Given the description of an element on the screen output the (x, y) to click on. 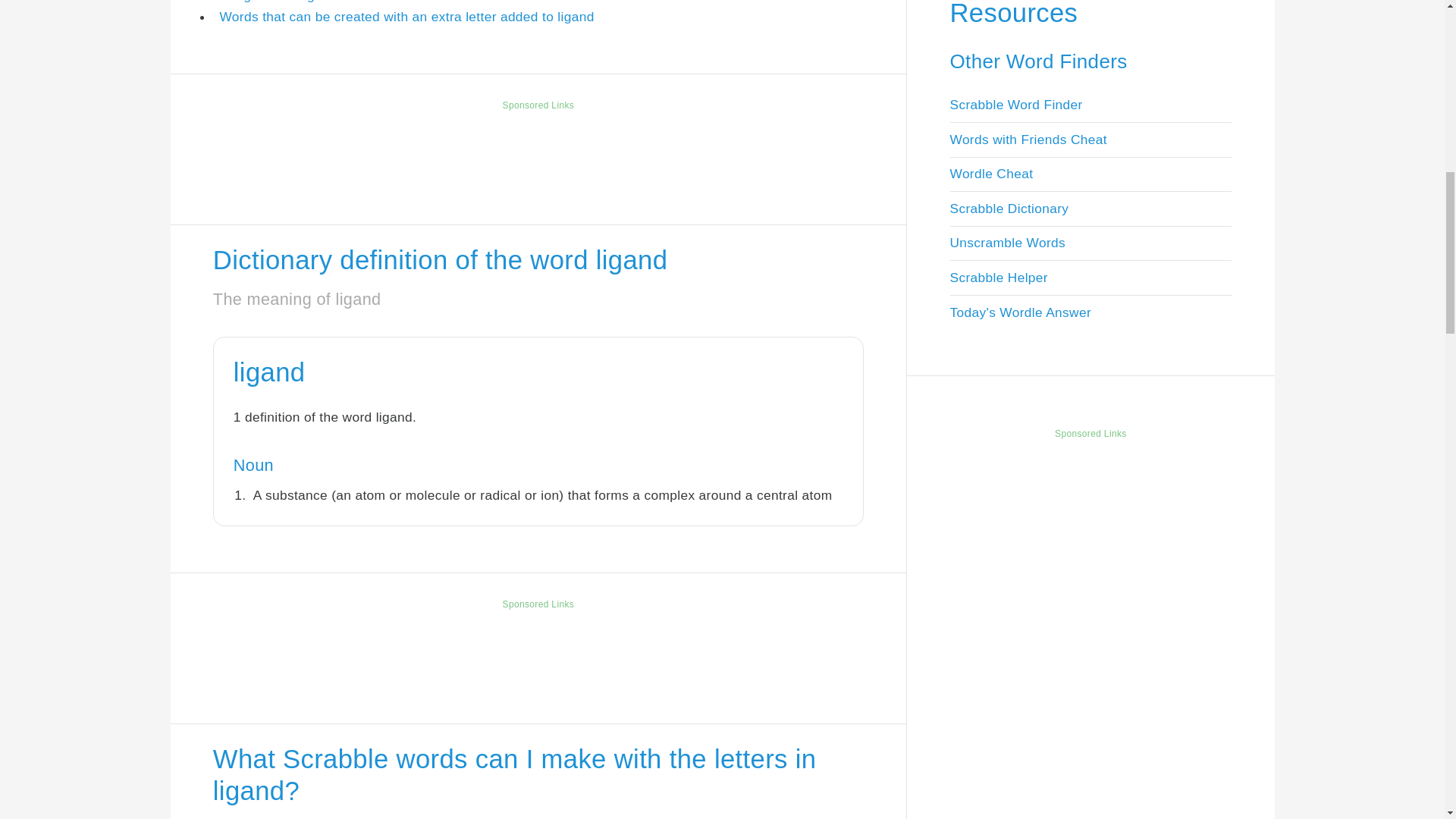
X (1434, 757)
Anagrams of ligand (278, 1)
